Given the description of an element on the screen output the (x, y) to click on. 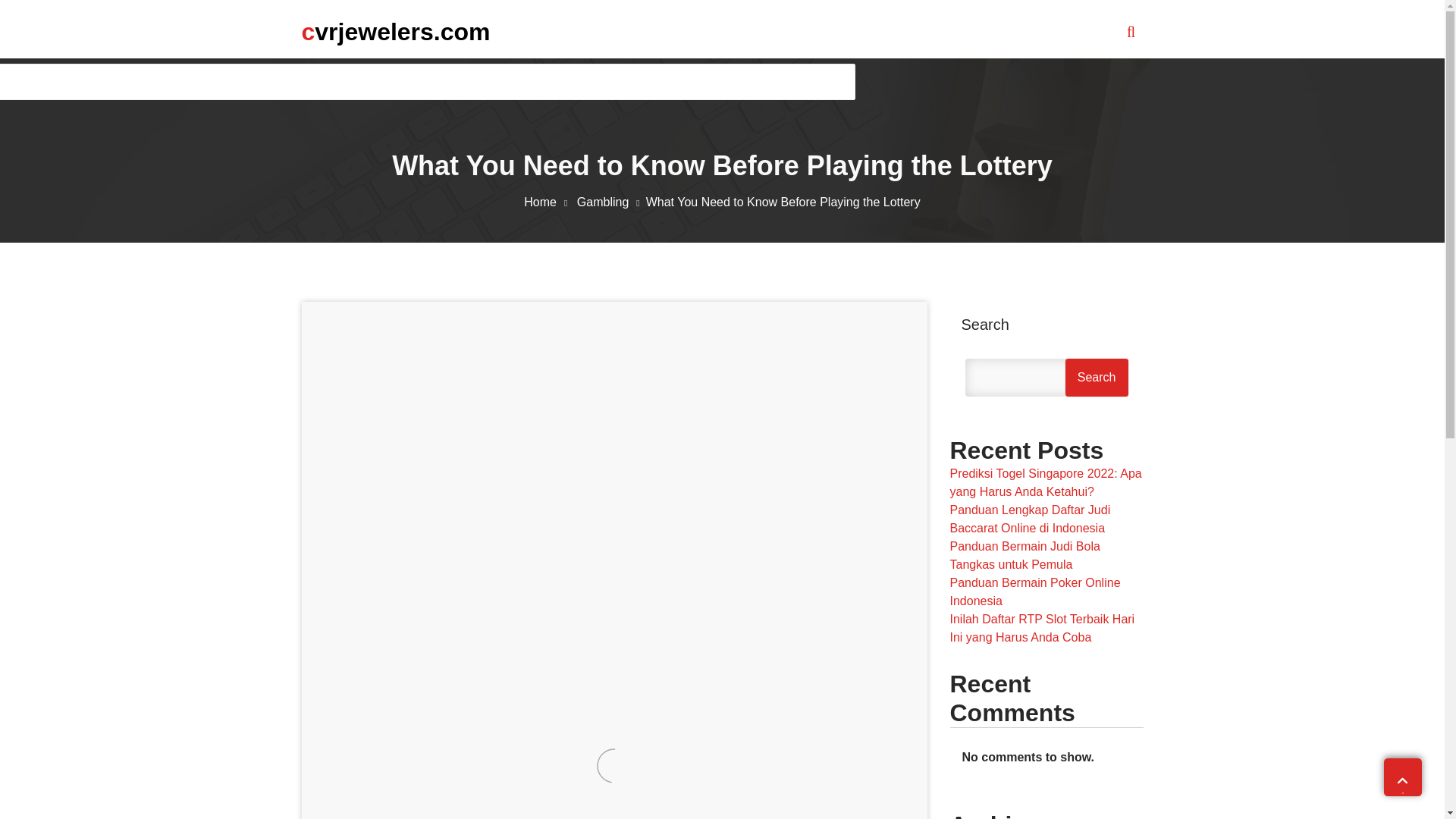
cvrjewelers.com (395, 31)
Search (1096, 377)
Gambling (611, 201)
Home (548, 201)
